Given the description of an element on the screen output the (x, y) to click on. 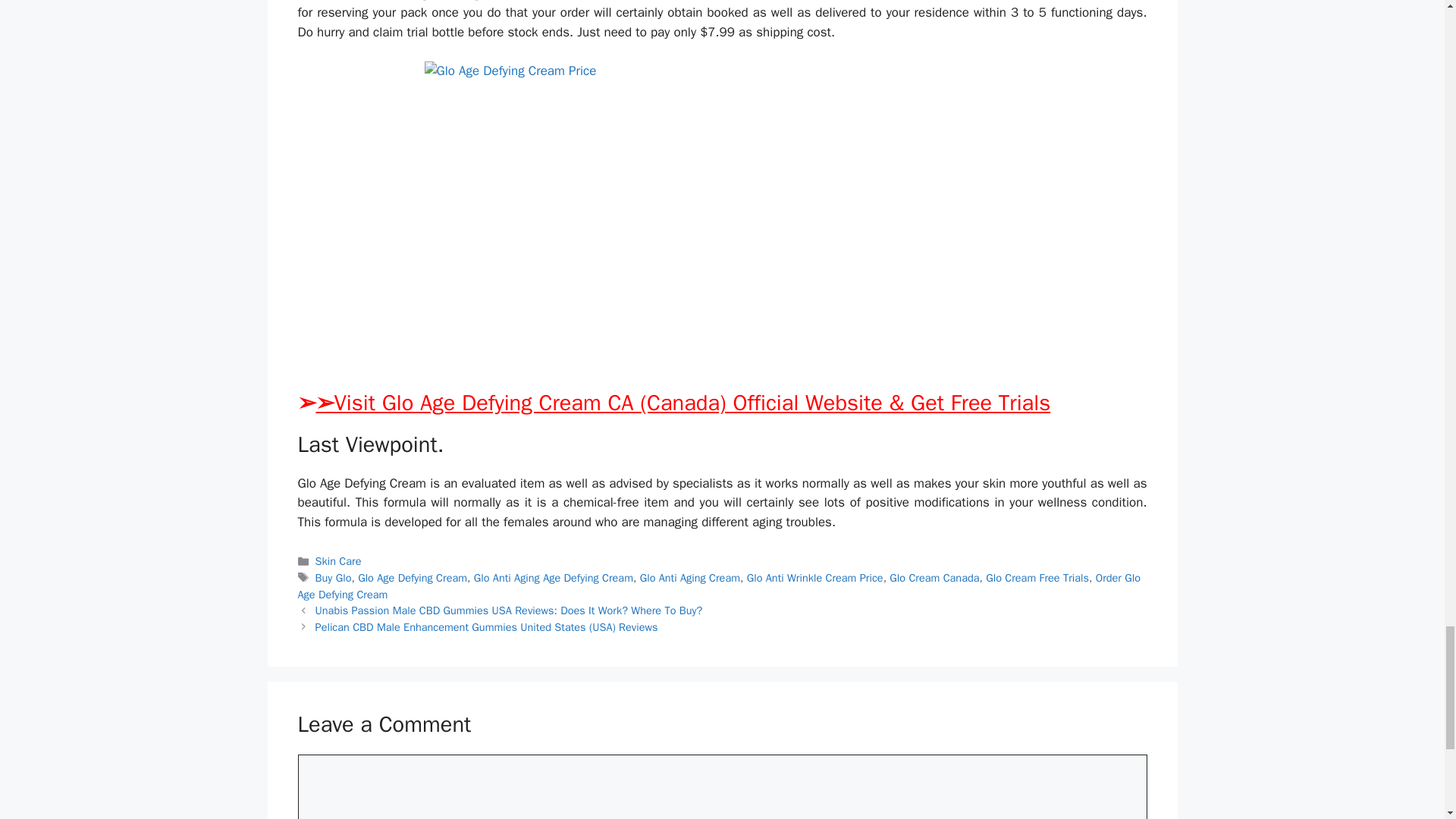
Glo Cream Free Trials (1037, 577)
Order Glo Age Defying Cream (718, 585)
Buy Glo (333, 577)
Glo Anti Wrinkle Cream Price (814, 577)
Glo Cream Canada (933, 577)
Glo Age Defying Cream (412, 577)
Skin Care (338, 561)
Glo Anti Aging Age Defying Cream (553, 577)
Glo Anti Aging Cream (689, 577)
